Given the description of an element on the screen output the (x, y) to click on. 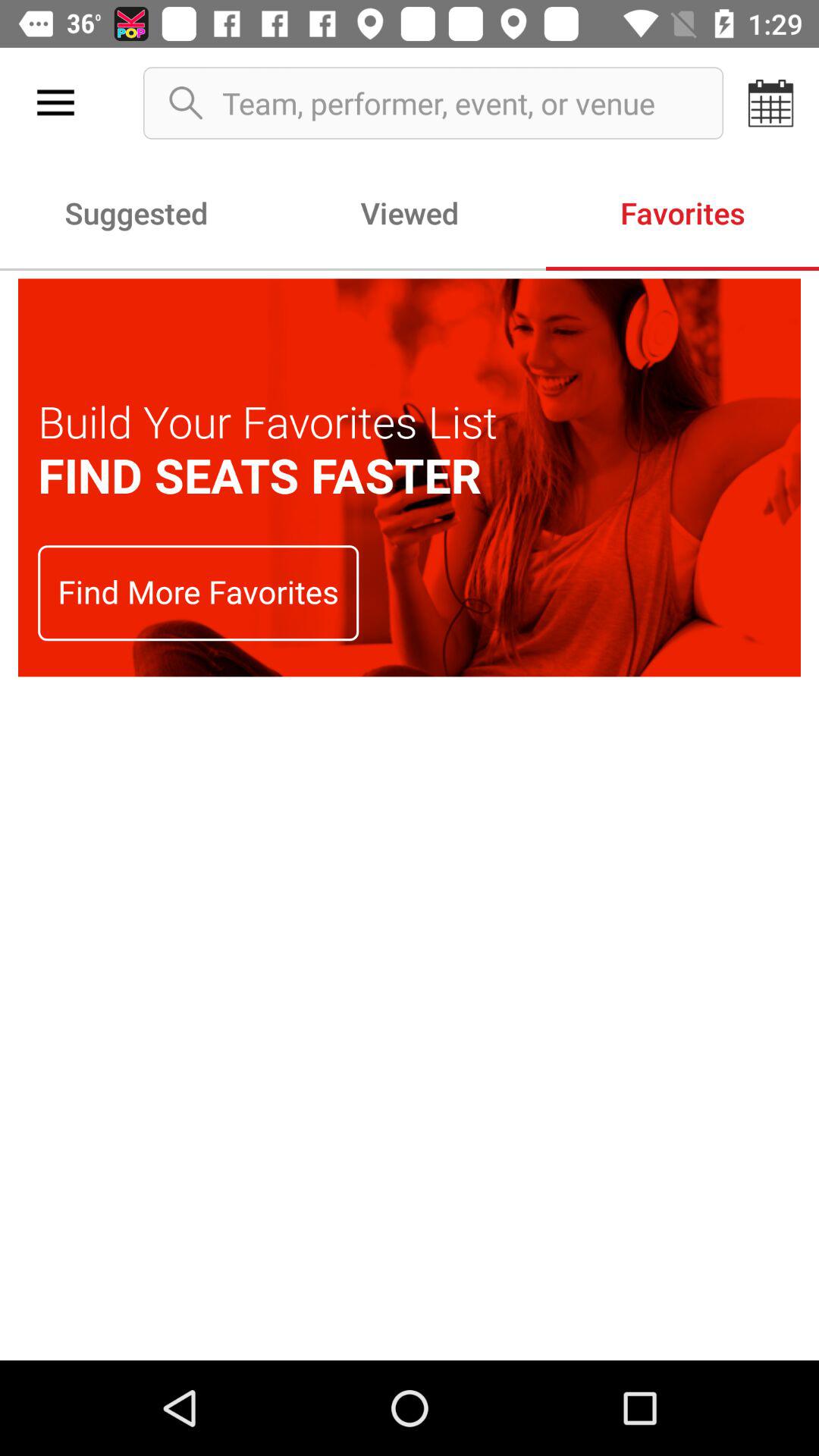
choose the find more favorites item (198, 592)
